Given the description of an element on the screen output the (x, y) to click on. 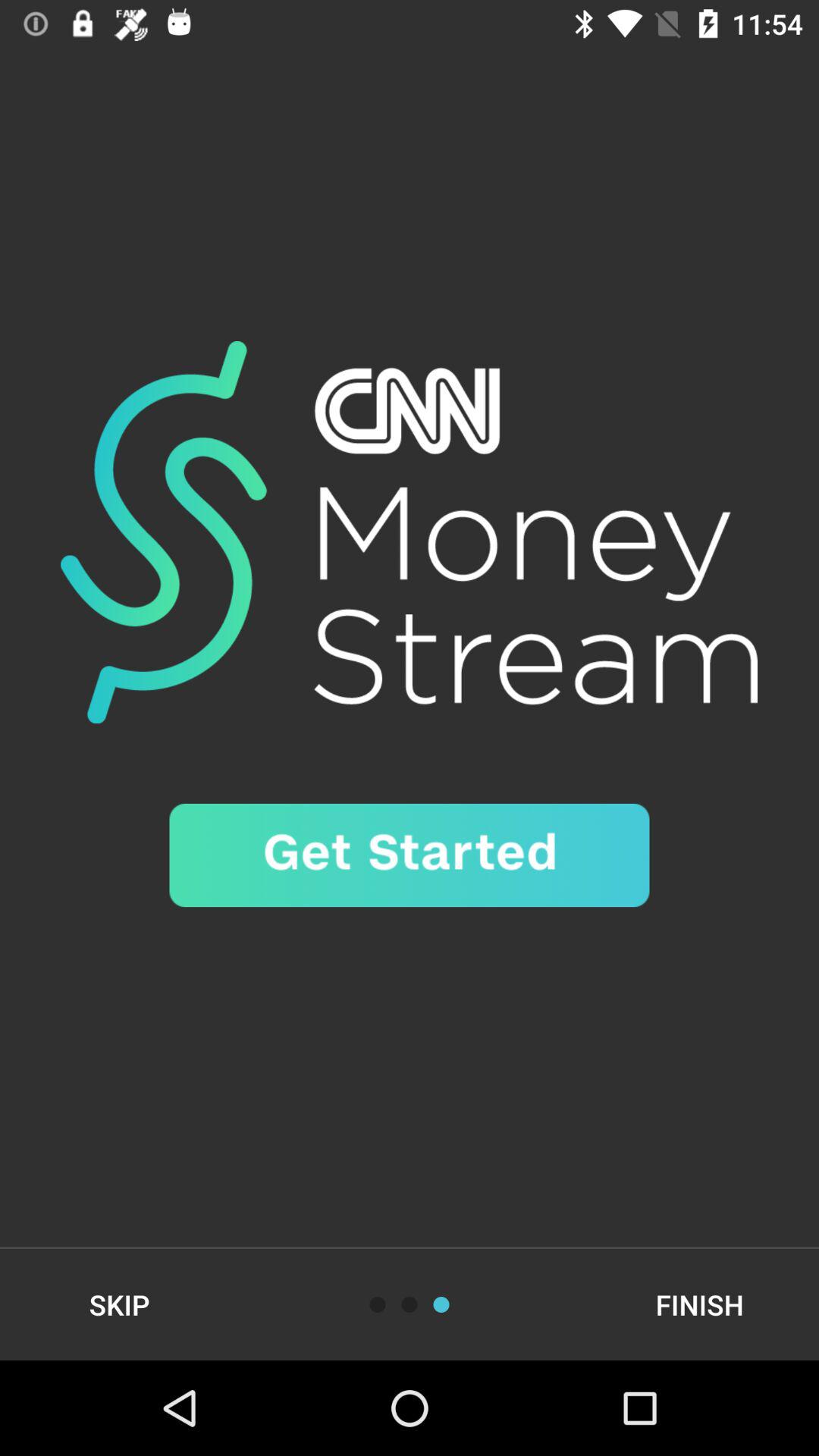
get started (409, 855)
